Given the description of an element on the screen output the (x, y) to click on. 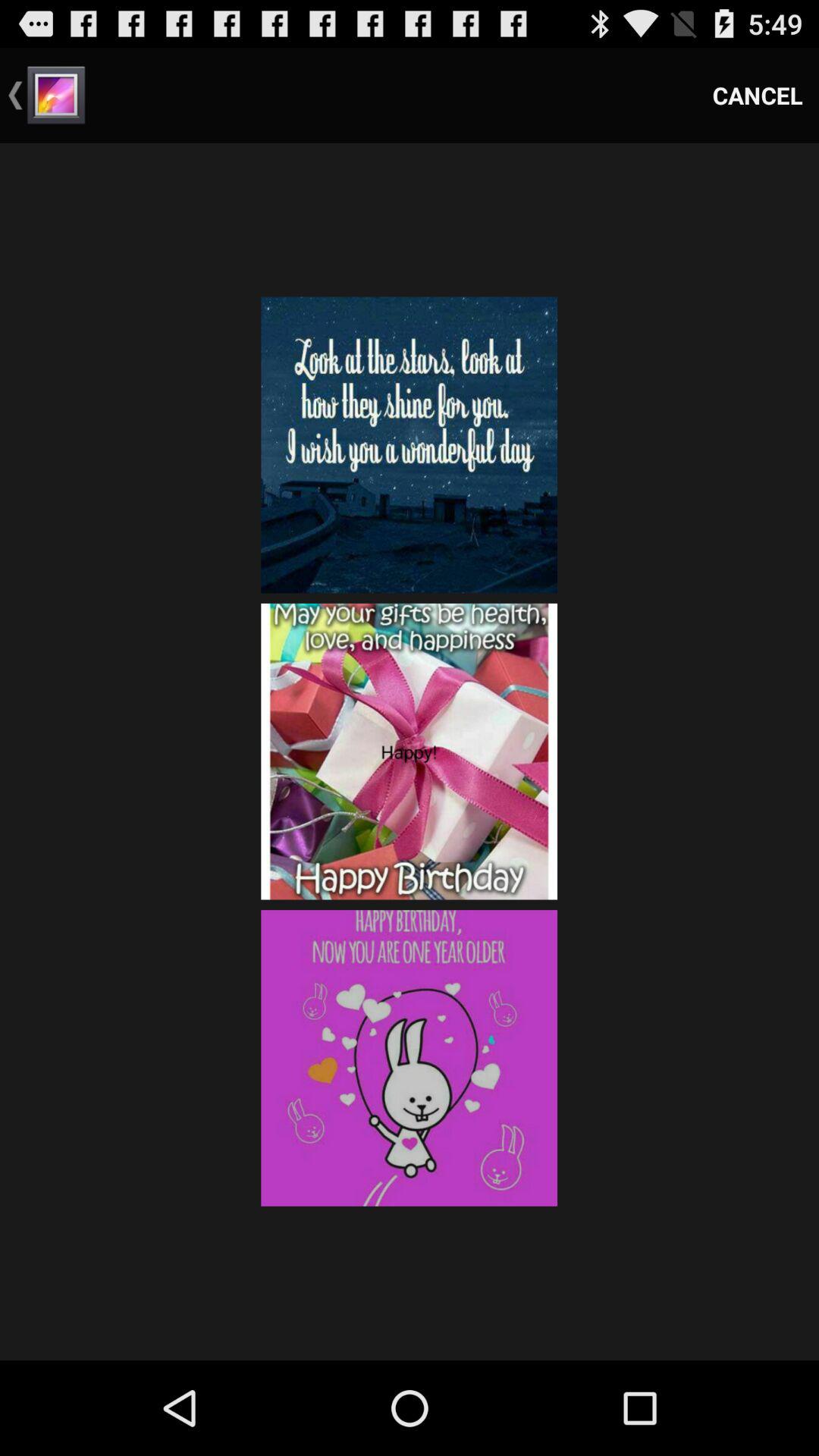
open cancel icon (757, 95)
